Given the description of an element on the screen output the (x, y) to click on. 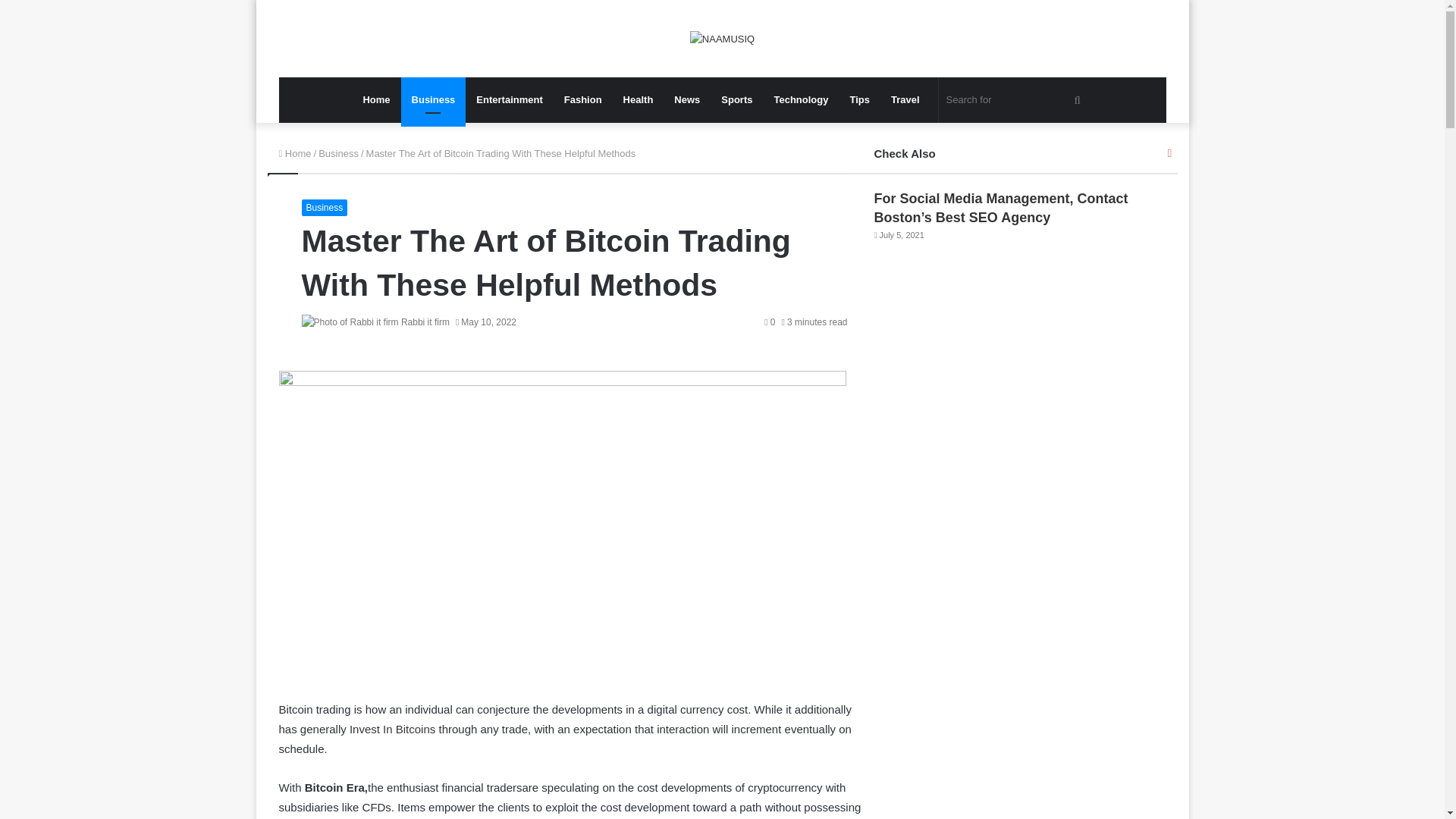
Business (324, 207)
Rabbi it firm (425, 321)
Business (433, 99)
Business (338, 153)
Technology (800, 99)
News (686, 99)
Entertainment (509, 99)
Travel (905, 99)
Fashion (582, 99)
Invest In Bitcoins (392, 728)
